Given the description of an element on the screen output the (x, y) to click on. 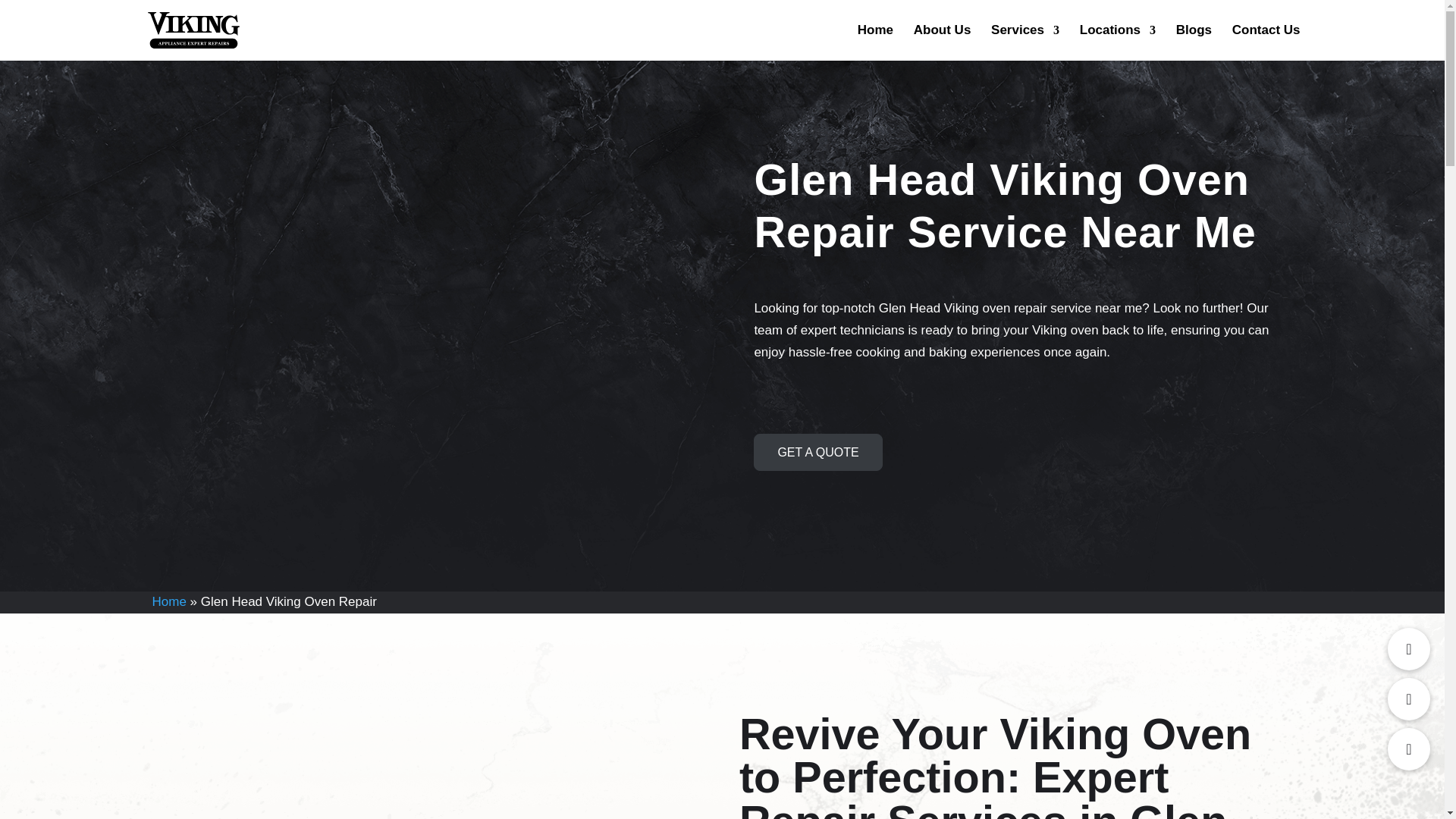
Contact Us (1265, 42)
Blogs (1193, 42)
Services (1025, 42)
Home (875, 42)
Locations (1118, 42)
About Us (942, 42)
